Given the description of an element on the screen output the (x, y) to click on. 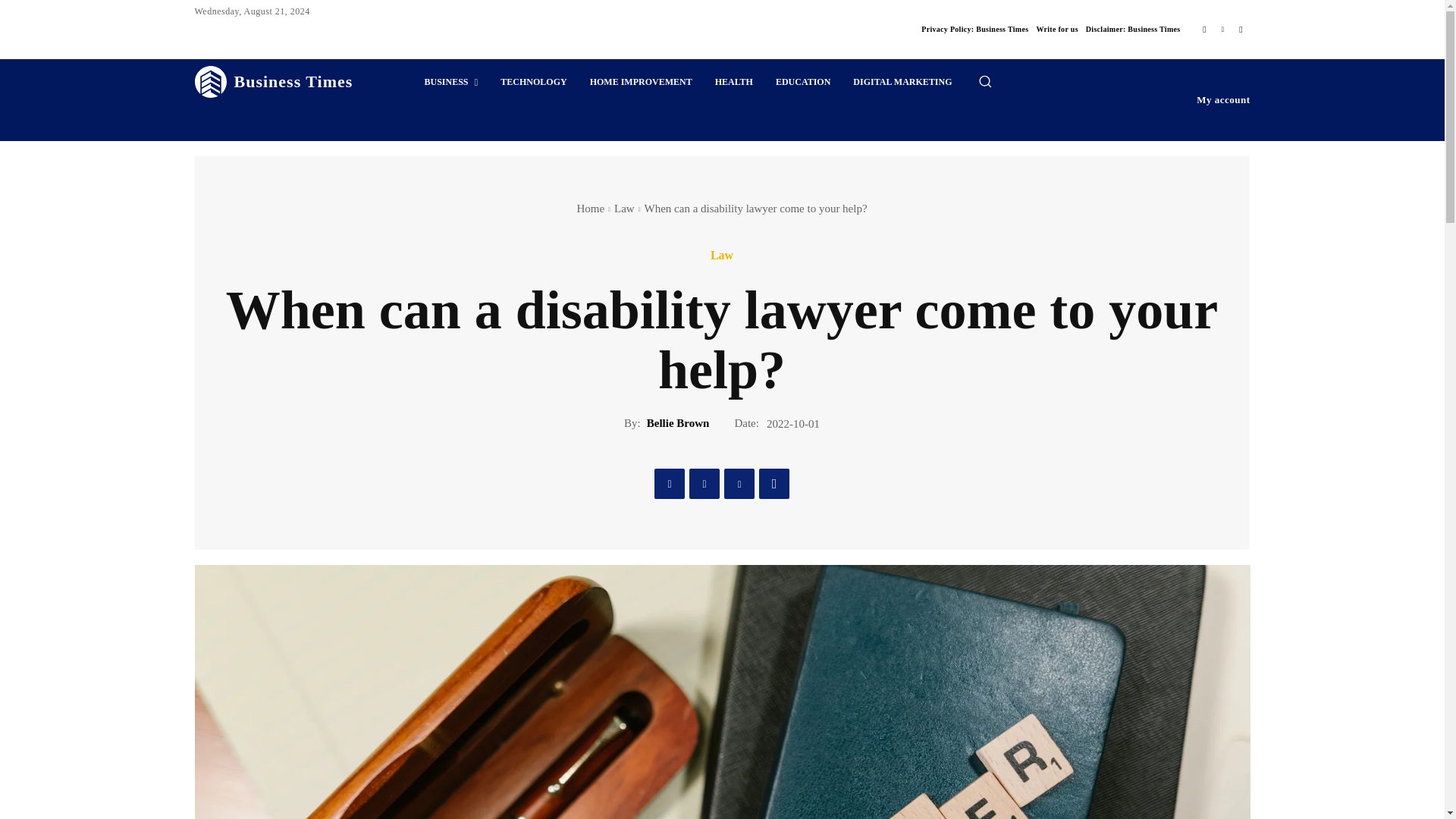
Home (590, 208)
WhatsApp (773, 483)
Facebook (1203, 29)
Pinterest (738, 483)
Twitter (703, 483)
EDUCATION (802, 81)
HEALTH (733, 81)
RSS (1240, 29)
Disclaimer: Business Times (1133, 29)
Linkedin (1221, 29)
